Given the description of an element on the screen output the (x, y) to click on. 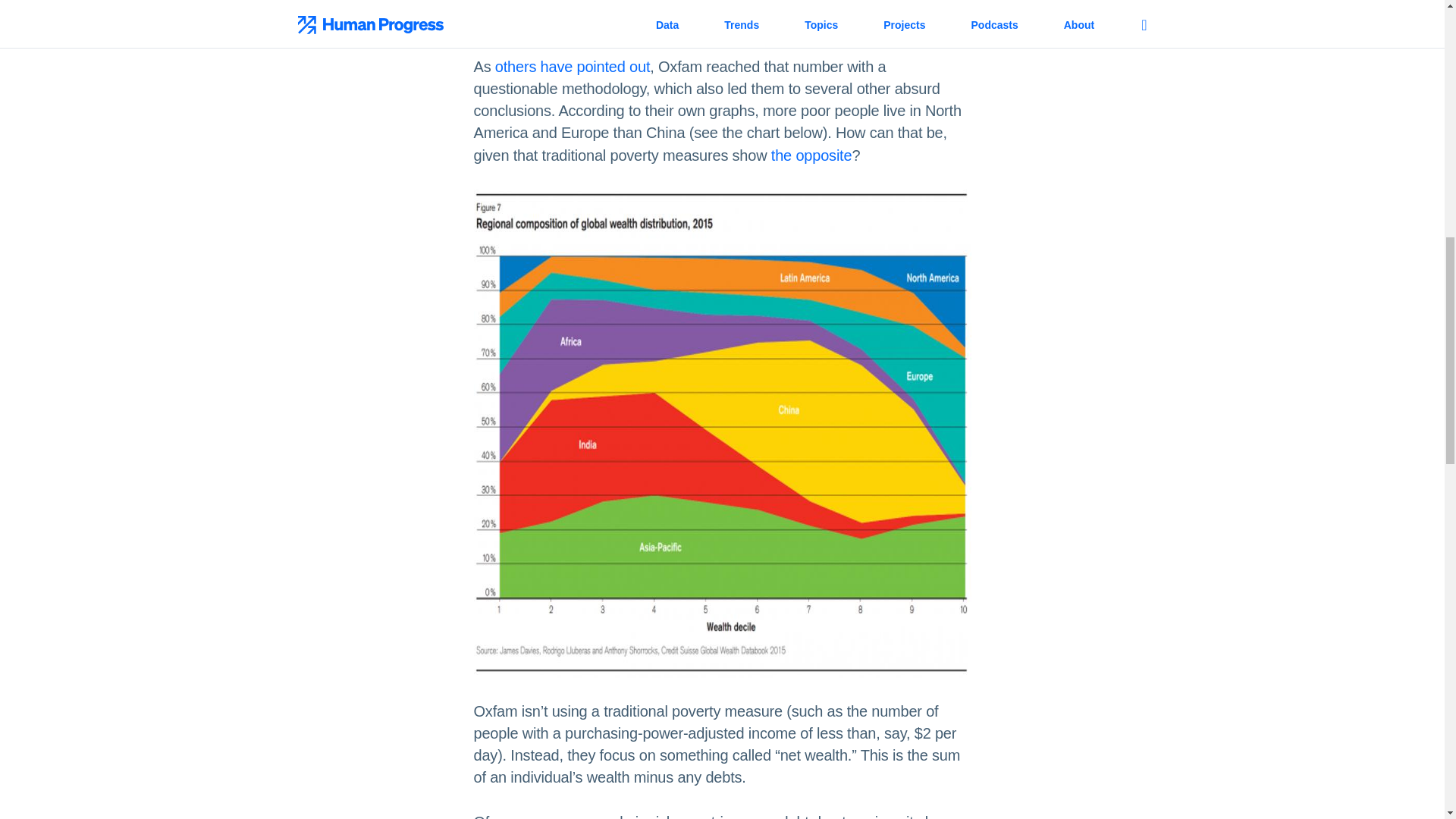
others (515, 66)
have (556, 66)
out (638, 66)
the opposite (811, 155)
pointed (600, 66)
